Given the description of an element on the screen output the (x, y) to click on. 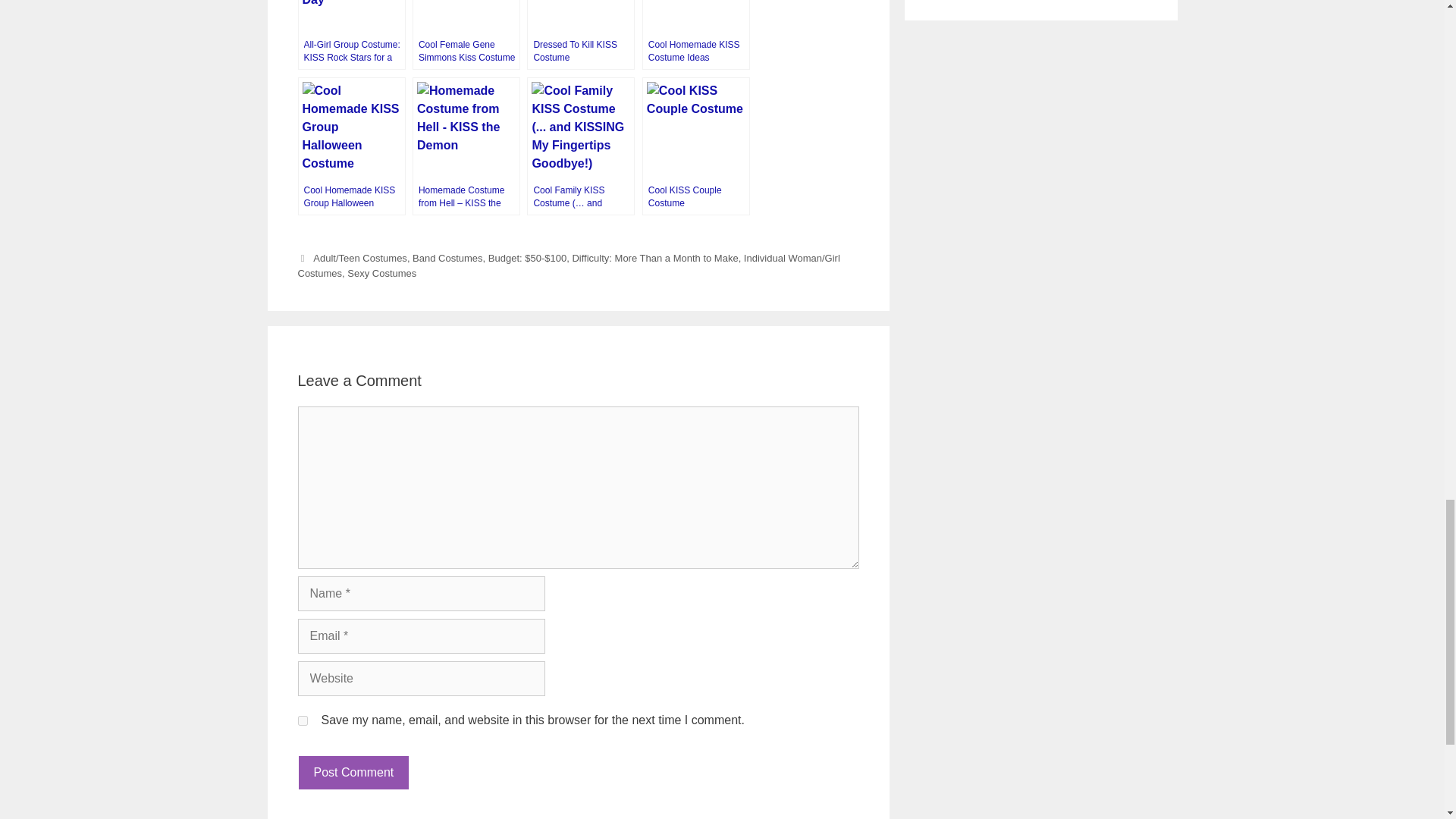
yes (302, 720)
Post Comment (353, 772)
Cool Female Gene Simmons Kiss Costume (465, 34)
All-Girl Group Costume: KISS Rock Stars for a Day (350, 34)
Dressed To Kill KISS Costume (580, 34)
Cool Homemade KISS Costume Ideas (695, 34)
